Given the description of an element on the screen output the (x, y) to click on. 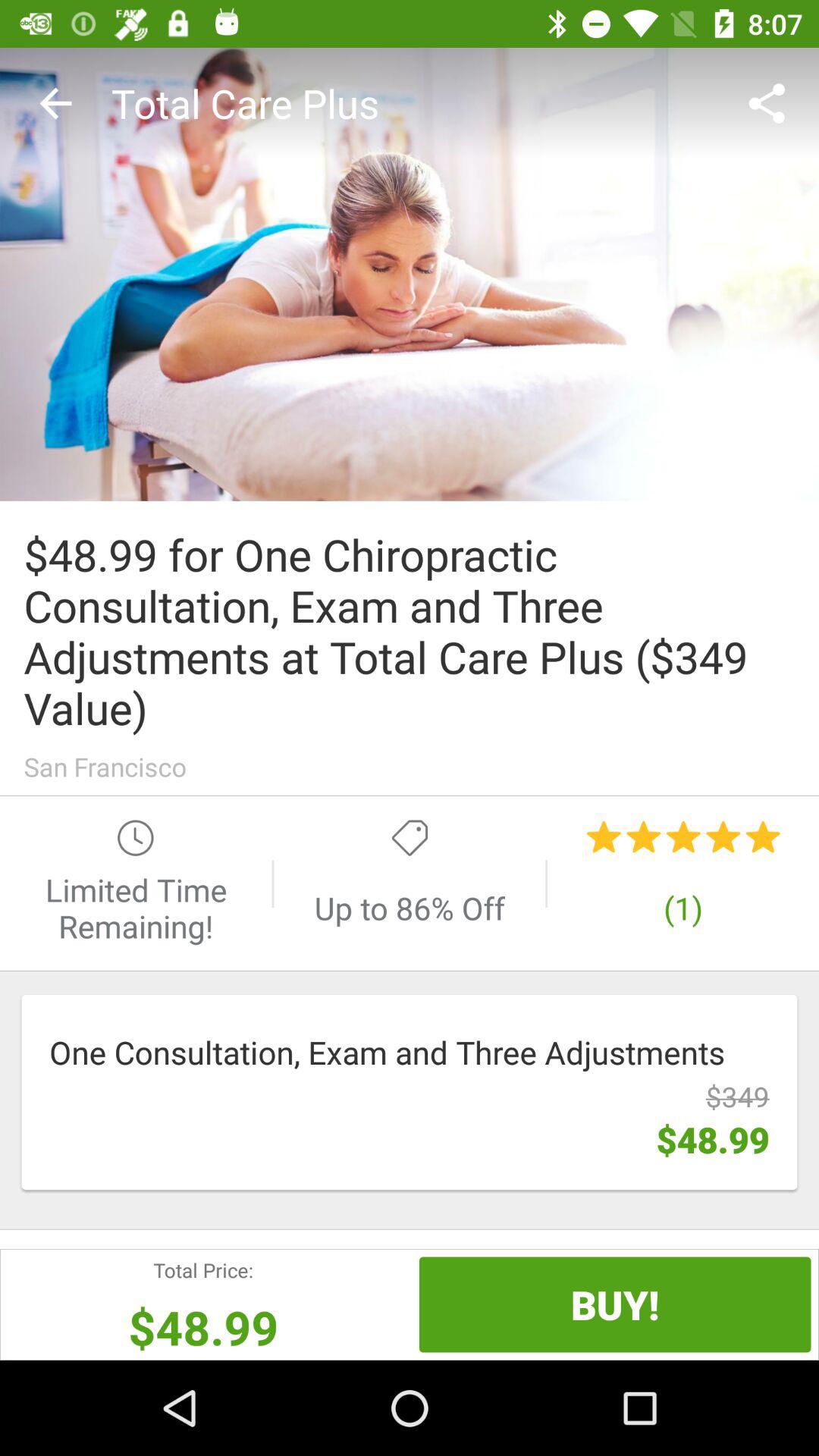
choose buy! icon (615, 1304)
